Given the description of an element on the screen output the (x, y) to click on. 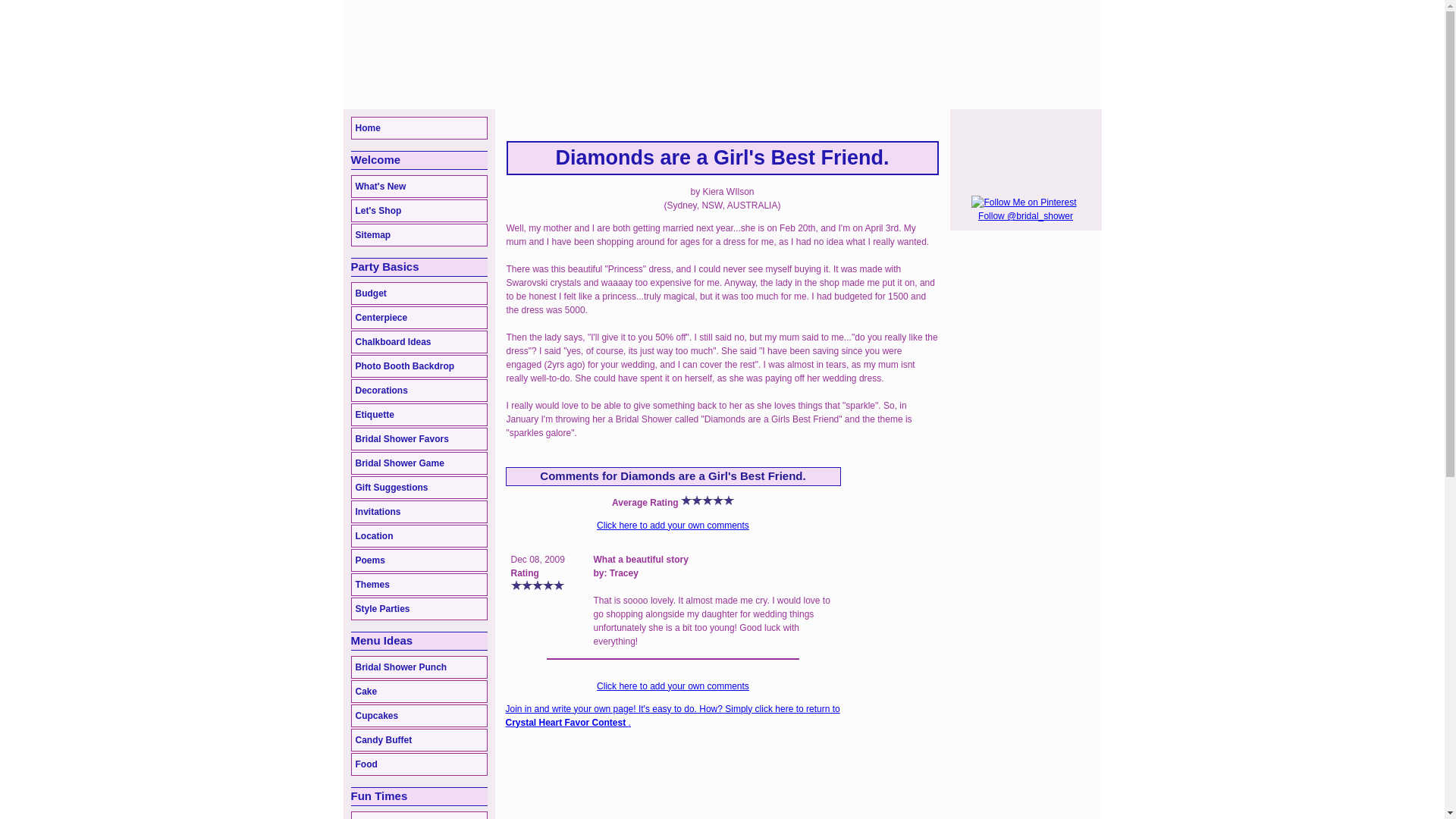
Let's Shop (418, 210)
Entertainment (418, 815)
Centerpiece (418, 317)
Bridal Shower Game (418, 463)
Bridal Shower Favors (418, 438)
Sitemap (418, 234)
Etiquette (418, 414)
Poems (418, 559)
Gift Suggestions (418, 486)
What's New (418, 186)
Decorations (418, 390)
Click here to add your own comments (672, 685)
Chalkboard Ideas (418, 341)
Photo Booth Backdrop (418, 365)
